Given the description of an element on the screen output the (x, y) to click on. 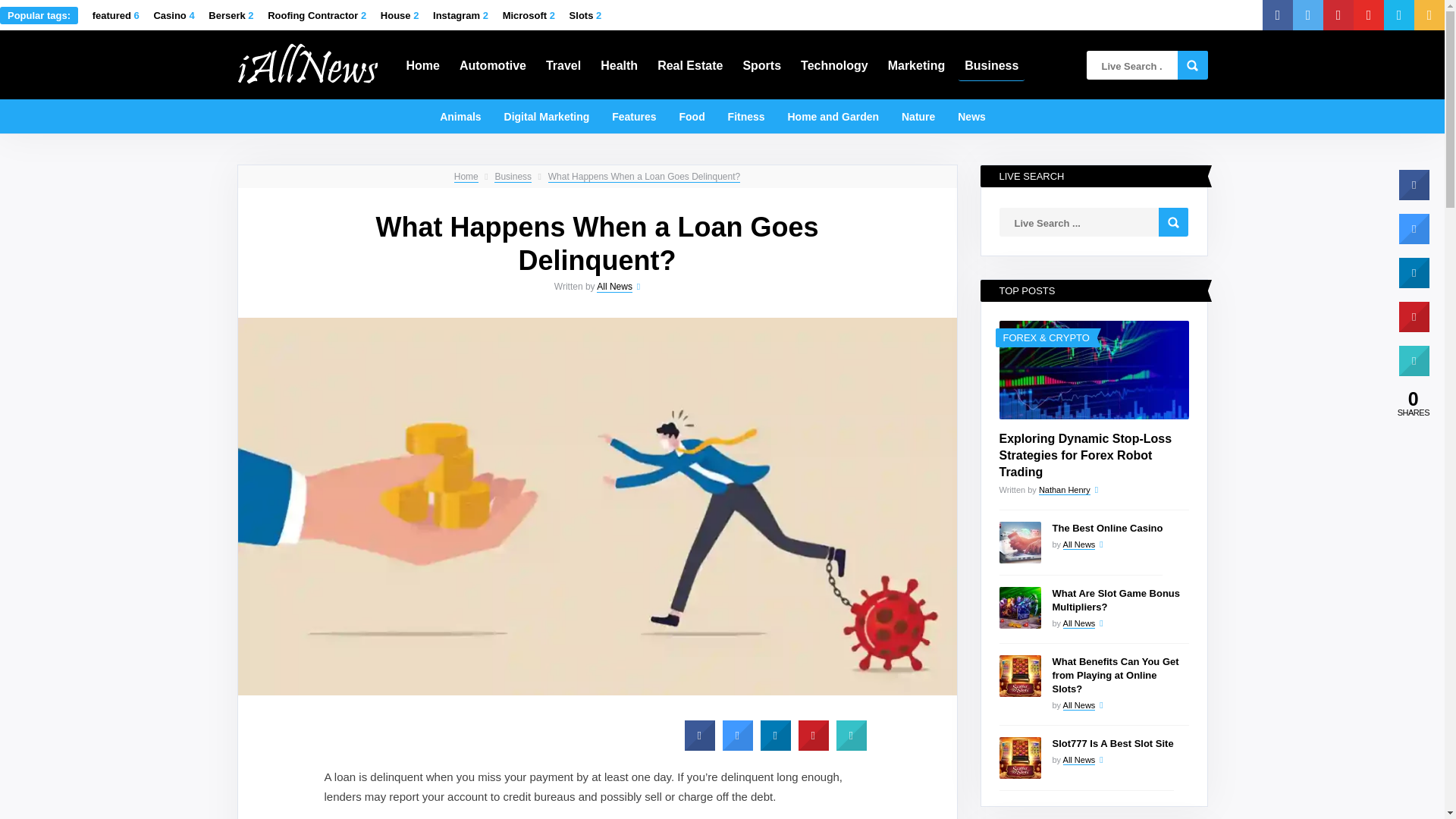
Health (618, 64)
Microsoft 2 (528, 15)
Home (422, 64)
Nature (917, 115)
Search (1173, 222)
Search (1191, 64)
Travel (563, 64)
Digital Marketing (546, 115)
Real Estate (689, 64)
Berserk 2 (230, 15)
